Given the description of an element on the screen output the (x, y) to click on. 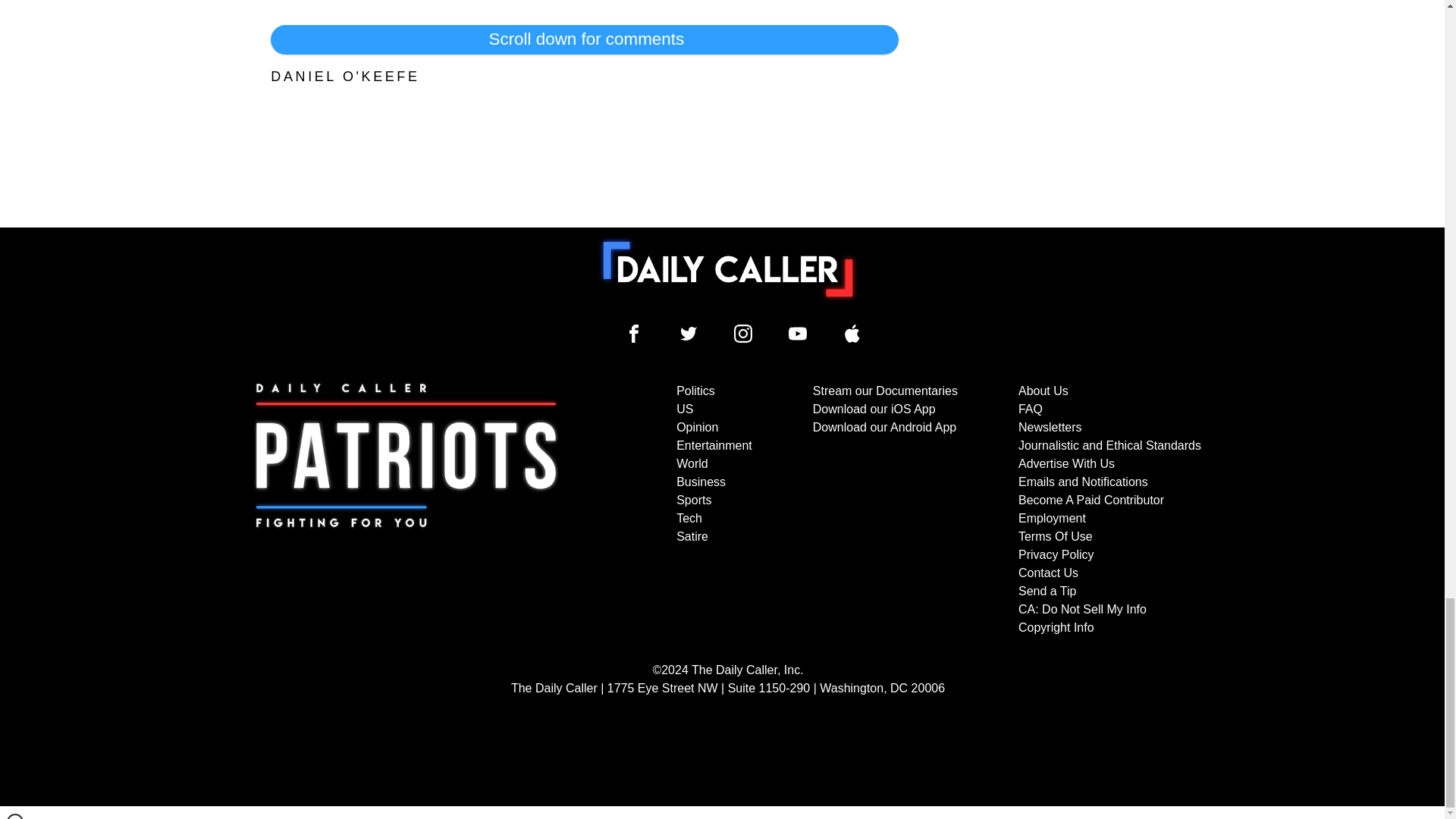
Daily Caller YouTube (852, 333)
Daily Caller YouTube (797, 333)
Daily Caller Twitter (688, 333)
Scroll down for comments (584, 39)
To home page (727, 268)
Subscribe to The Daily Caller (405, 509)
Daily Caller Instagram (742, 333)
Daily Caller Facebook (633, 333)
